Given the description of an element on the screen output the (x, y) to click on. 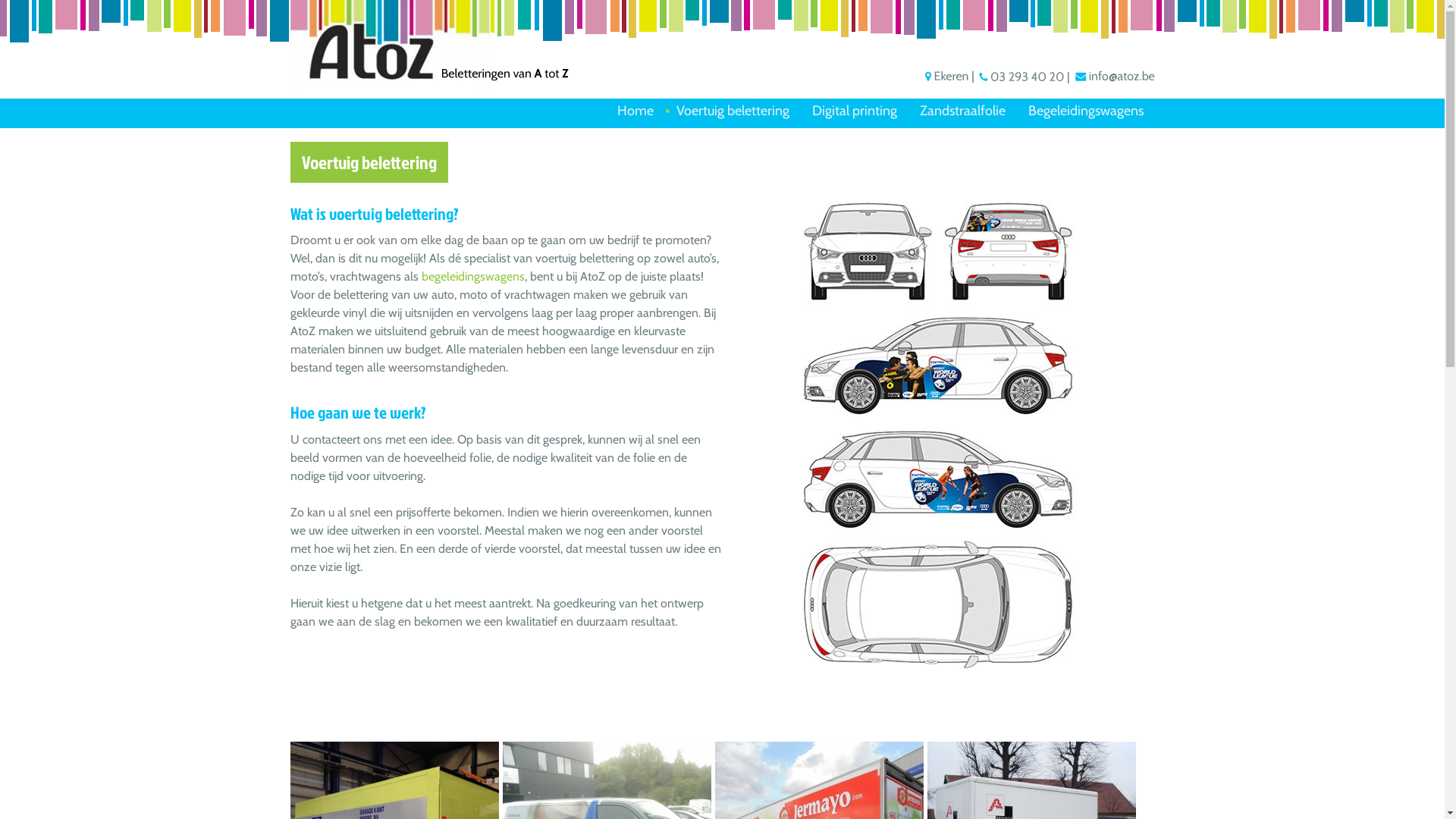
Zandstraalfolie Element type: text (962, 111)
Home Element type: text (634, 111)
begeleidingswagens Element type: text (472, 276)
Digital printing Element type: text (854, 111)
Voertuig belettering Element type: text (732, 111)
Begeleidingswagens Element type: text (1085, 111)
